Given the description of an element on the screen output the (x, y) to click on. 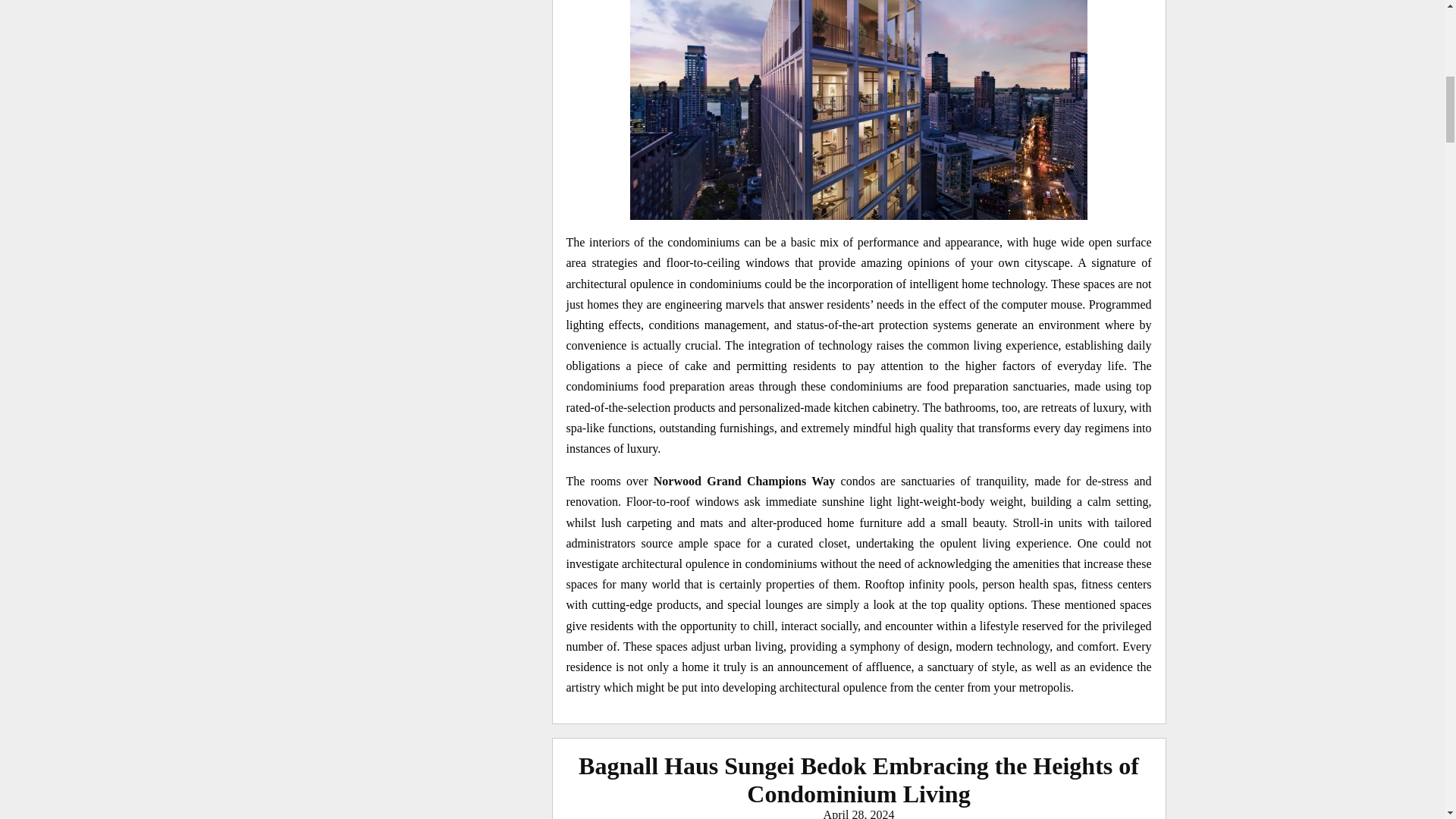
Norwood Grand Champions Way (744, 481)
April 28, 2024 (859, 813)
